Given the description of an element on the screen output the (x, y) to click on. 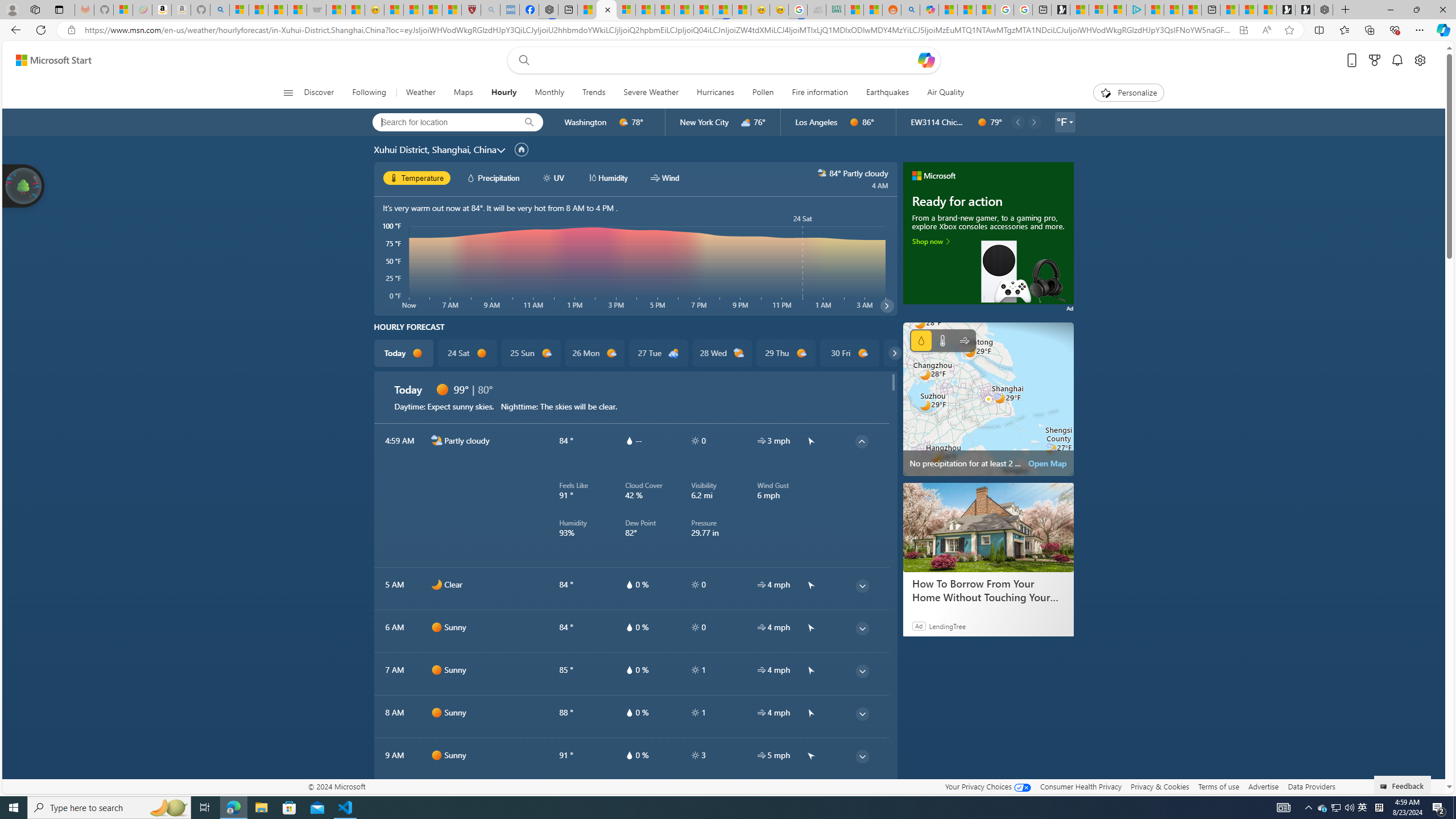
Trends (593, 92)
12 Popular Science Lies that Must be Corrected (450, 9)
Enter your search term (726, 59)
hourlyChart/uvWhite UV (553, 178)
hourlyChart/humidityWhite Humidity (606, 178)
Join us in planting real trees to help our planet! (23, 185)
hourlyChart/precipitationWhite (470, 177)
Fire information (820, 92)
hourlyChart/precipitationWhite Precipitation (493, 178)
